Given the description of an element on the screen output the (x, y) to click on. 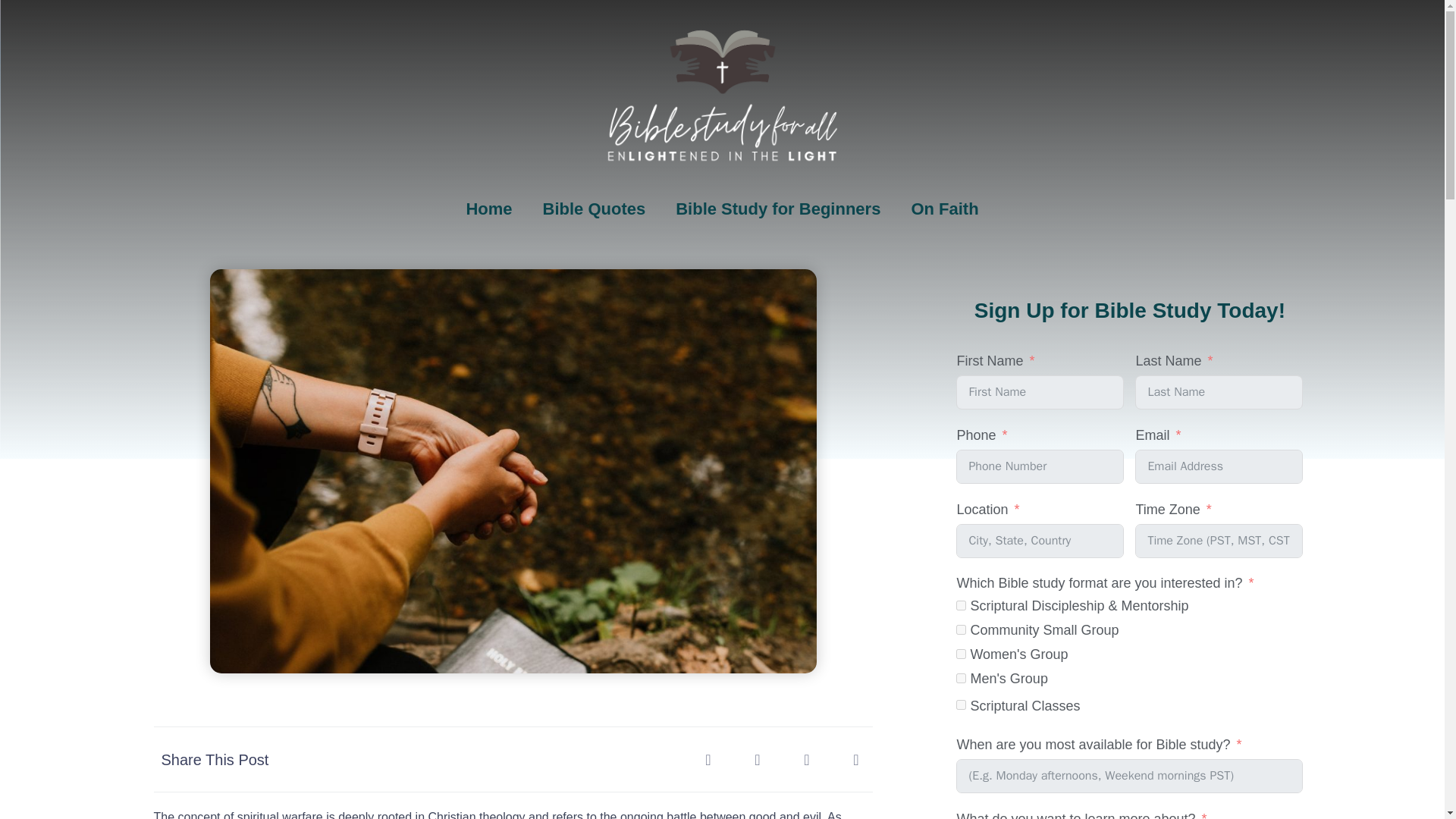
Community Small Group  (961, 629)
Men's Group (961, 678)
Bible Quotes (594, 208)
Bible Study for Beginners (778, 208)
On Faith (943, 208)
Women's Group (961, 654)
Scriptural Classes (961, 705)
Home (488, 208)
